Given the description of an element on the screen output the (x, y) to click on. 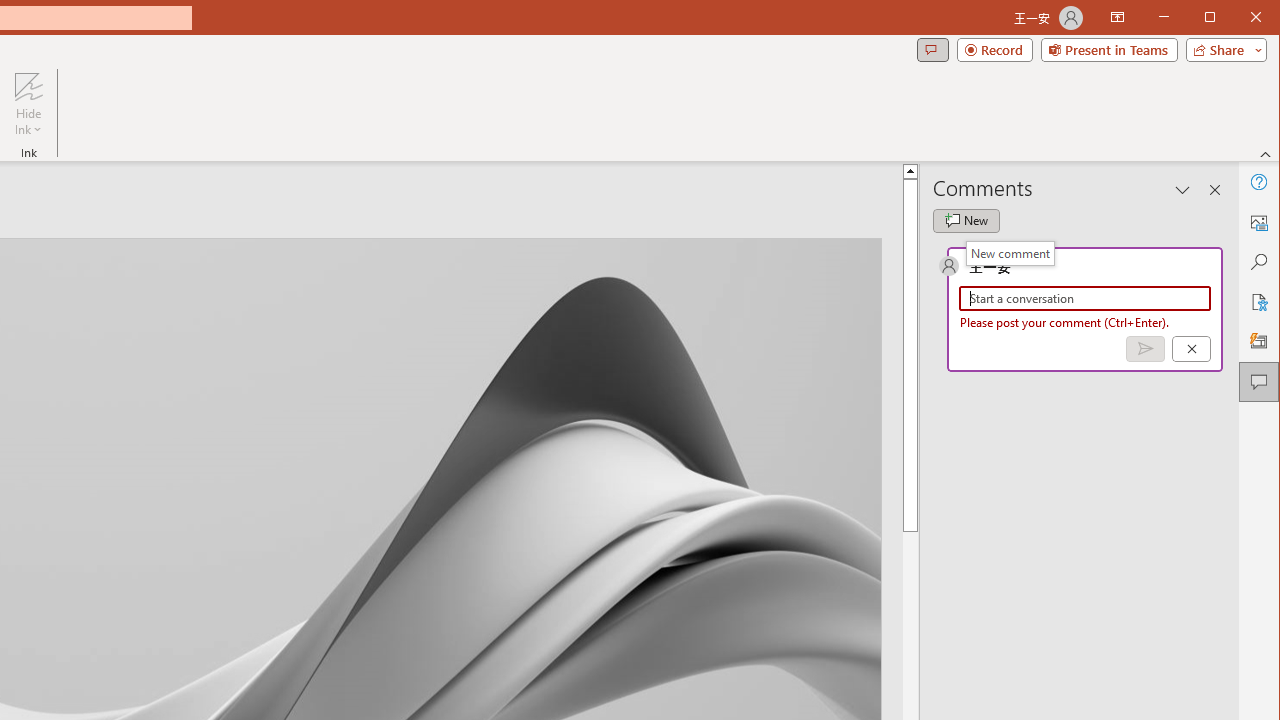
Comments (932, 49)
Post comment (Ctrl + Enter) (1145, 349)
Minimize (1216, 18)
Search (1258, 261)
Share (1222, 49)
Comments (1258, 381)
Present in Teams (1108, 49)
Record (994, 49)
Cancel (1191, 349)
Help (1258, 182)
Accessibility (1258, 301)
Close pane (1215, 189)
